Given the description of an element on the screen output the (x, y) to click on. 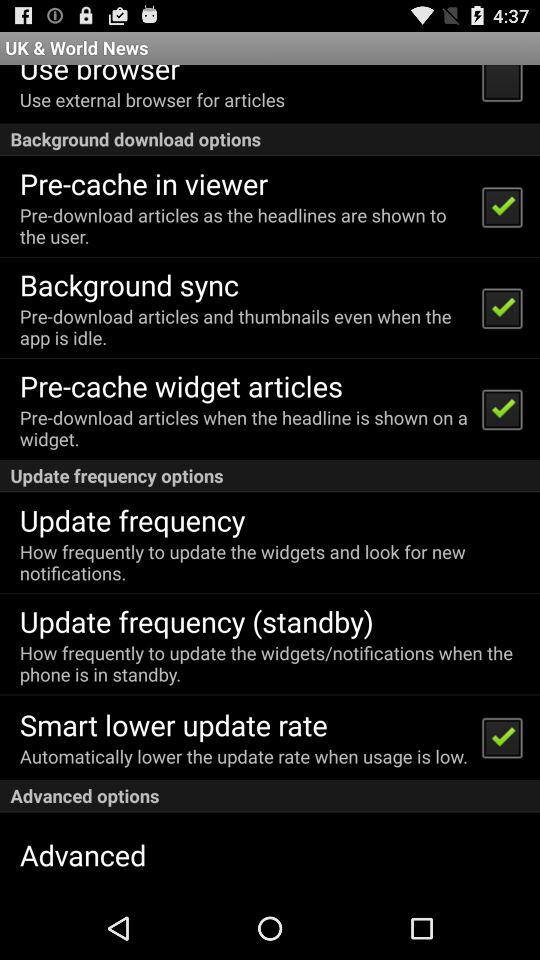
swipe to background sync icon (128, 284)
